Given the description of an element on the screen output the (x, y) to click on. 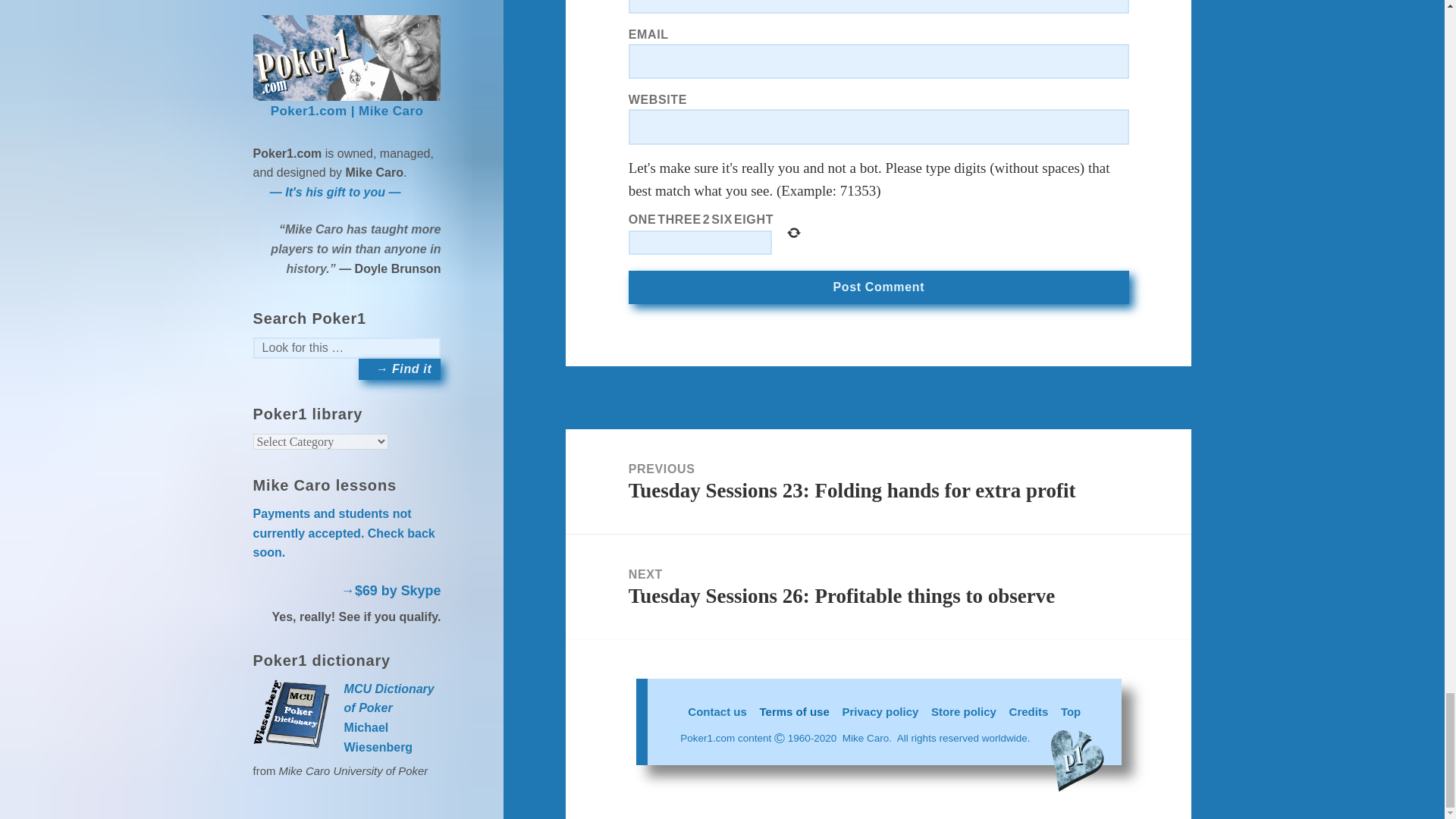
Privacy policy (879, 711)
Credits (1028, 711)
Top (1070, 711)
Post Comment (878, 287)
Post Comment (878, 287)
Terms of use (794, 711)
Contact us (716, 711)
Store policy (963, 711)
